Given the description of an element on the screen output the (x, y) to click on. 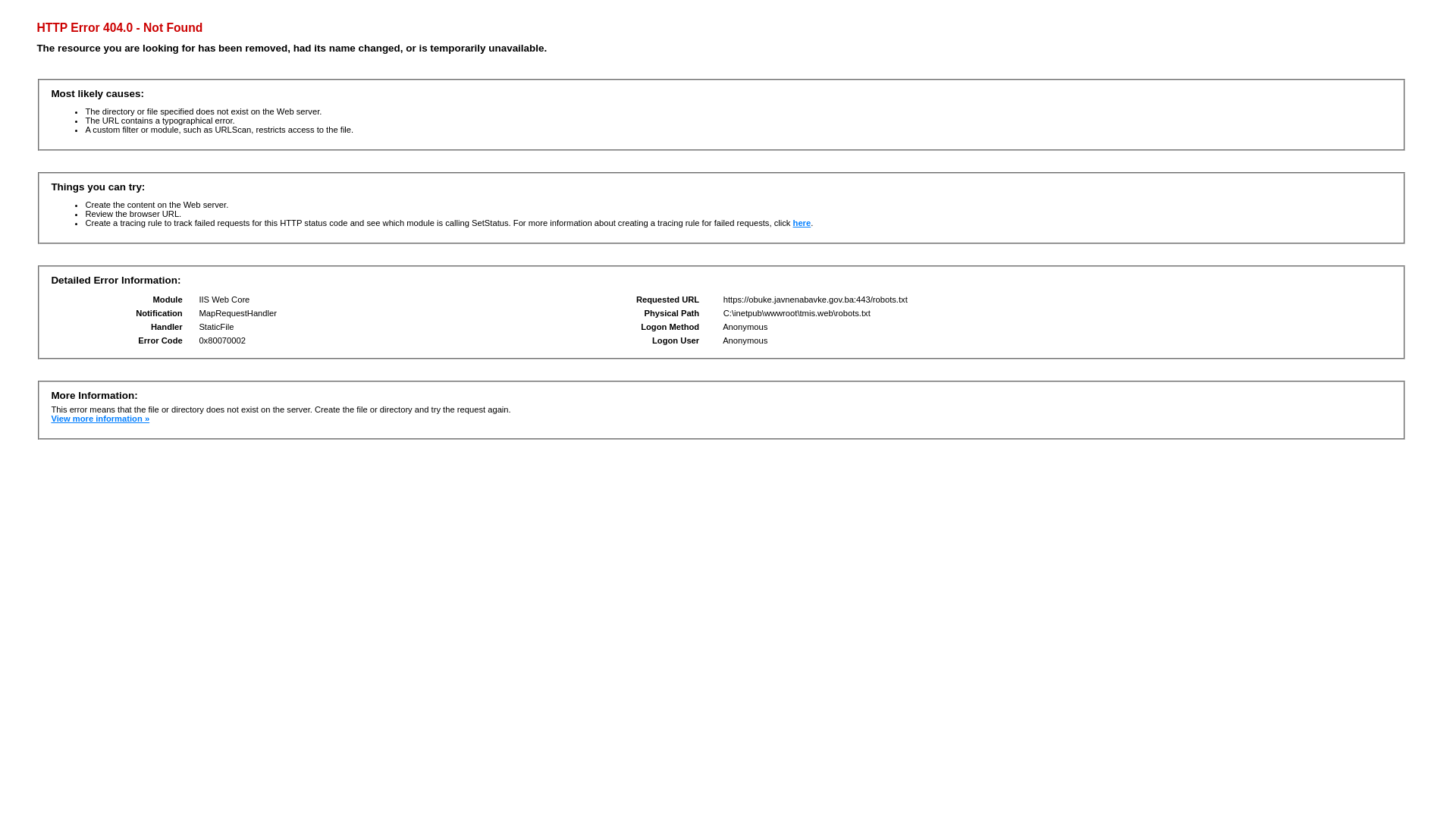
here Element type: text (802, 222)
